Given the description of an element on the screen output the (x, y) to click on. 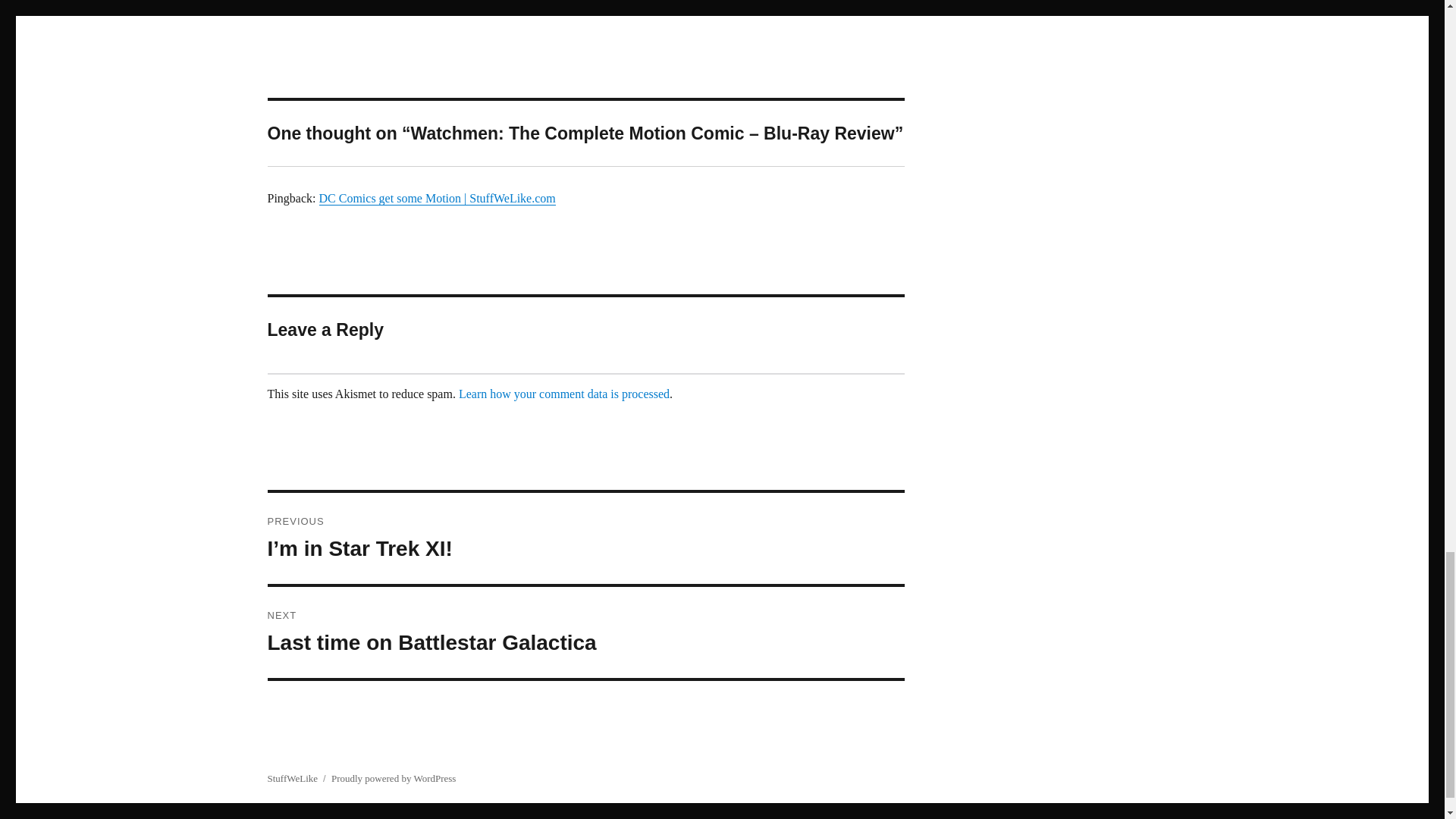
Learn how your comment data is processed (563, 393)
